Given the description of an element on the screen output the (x, y) to click on. 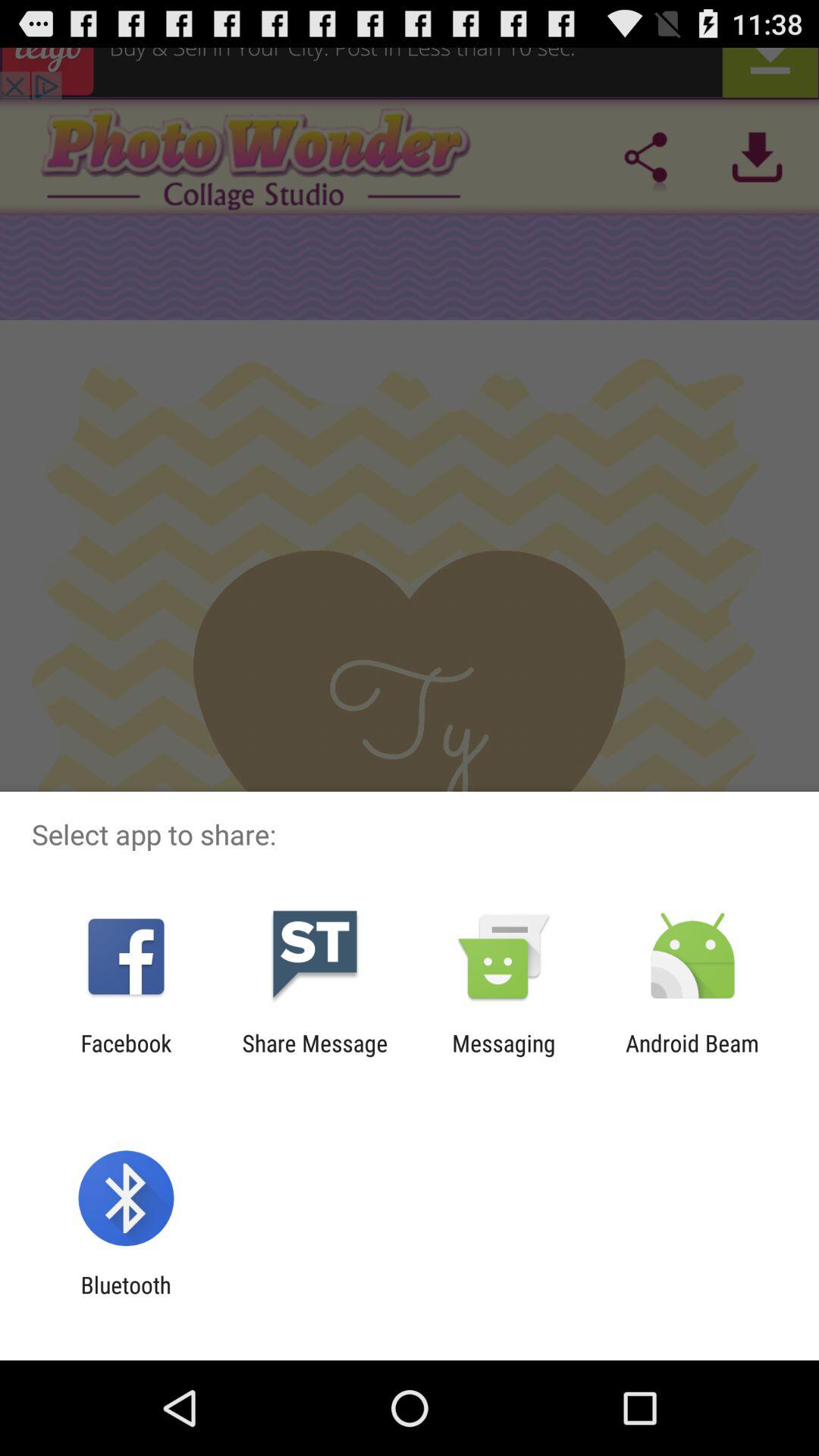
open the app next to messaging icon (314, 1056)
